Given the description of an element on the screen output the (x, y) to click on. 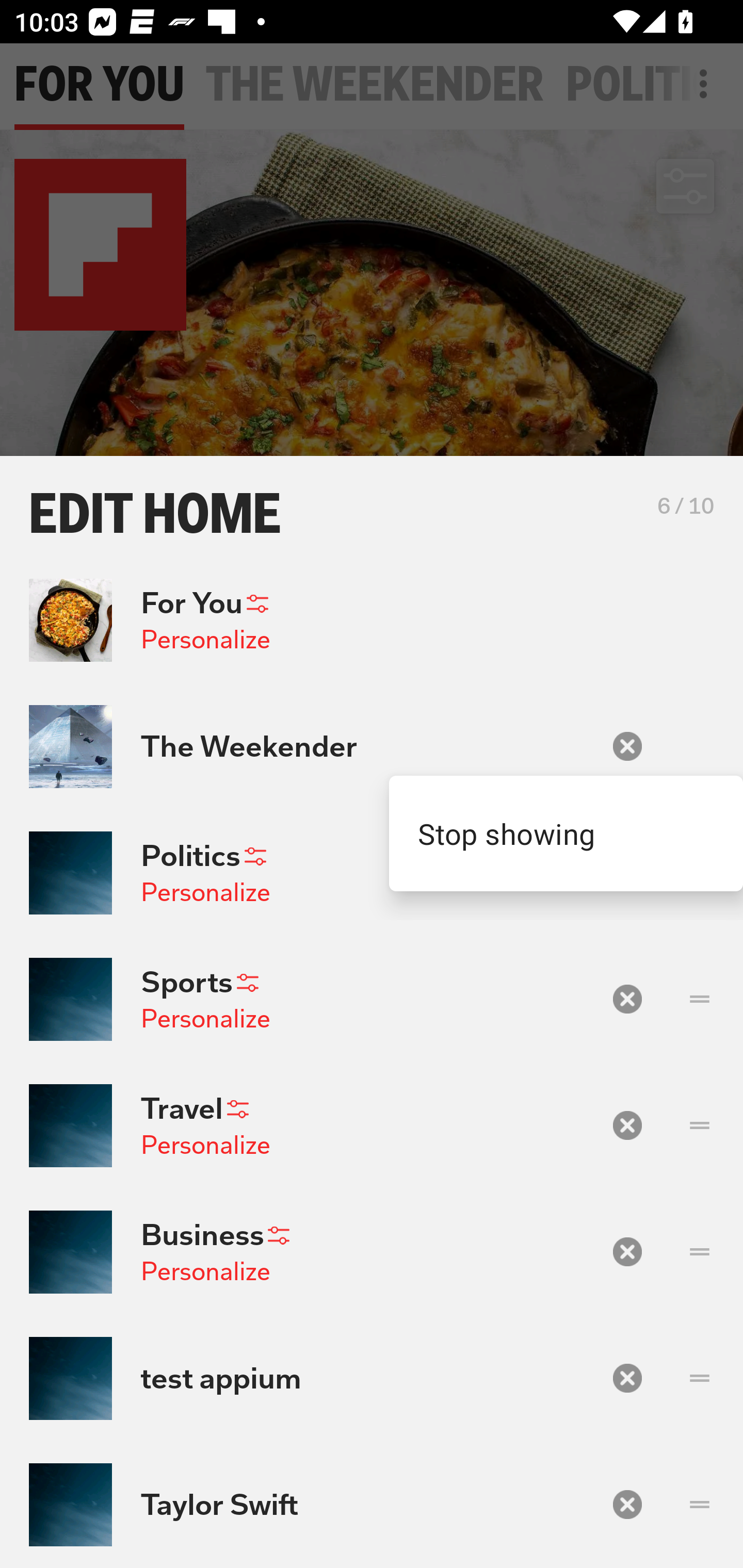
Stop showing (566, 833)
